Given the description of an element on the screen output the (x, y) to click on. 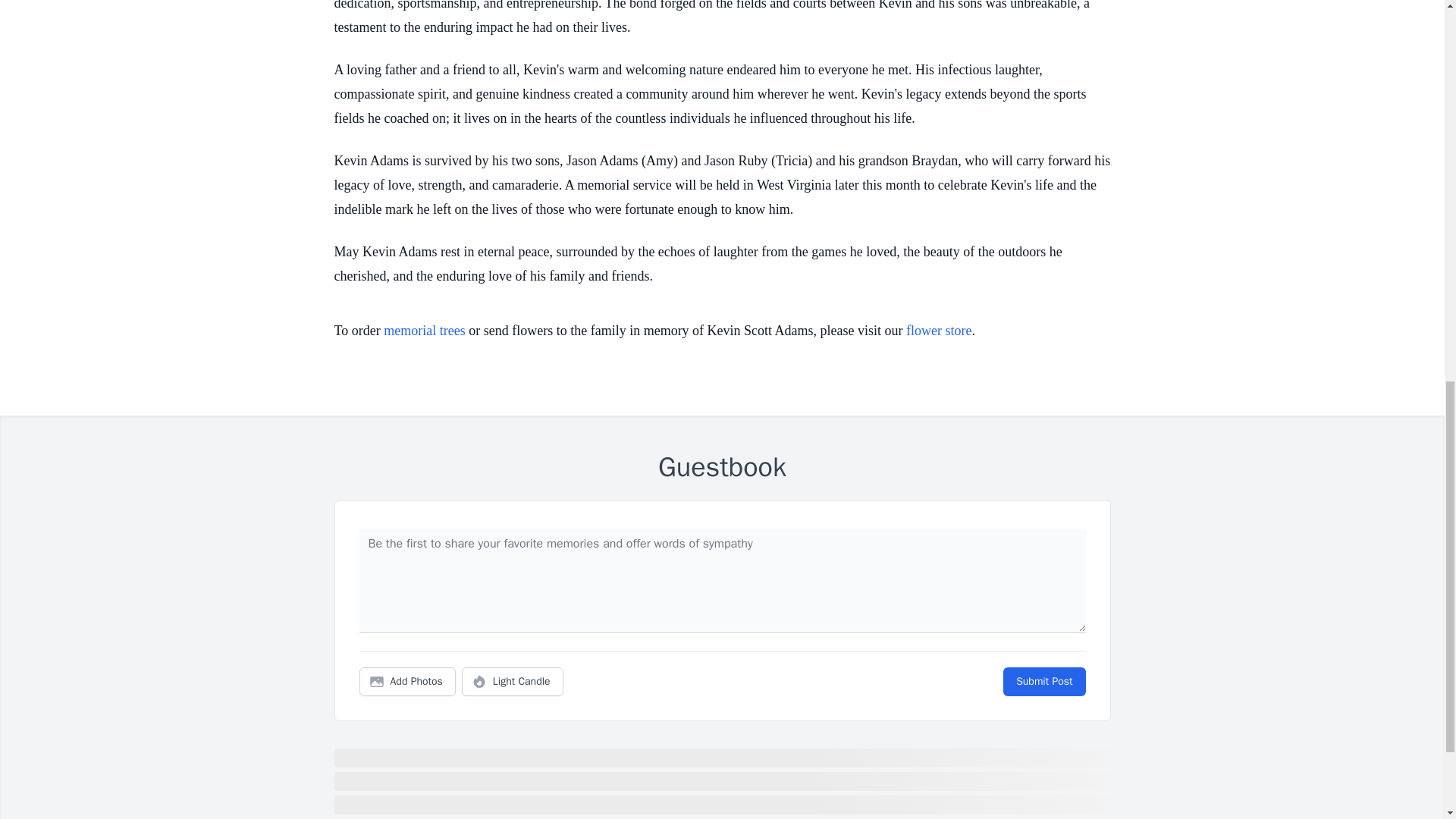
flower store (938, 330)
Submit Post (1043, 681)
Add Photos (407, 681)
Light Candle (512, 681)
memorial trees (424, 330)
